Given the description of an element on the screen output the (x, y) to click on. 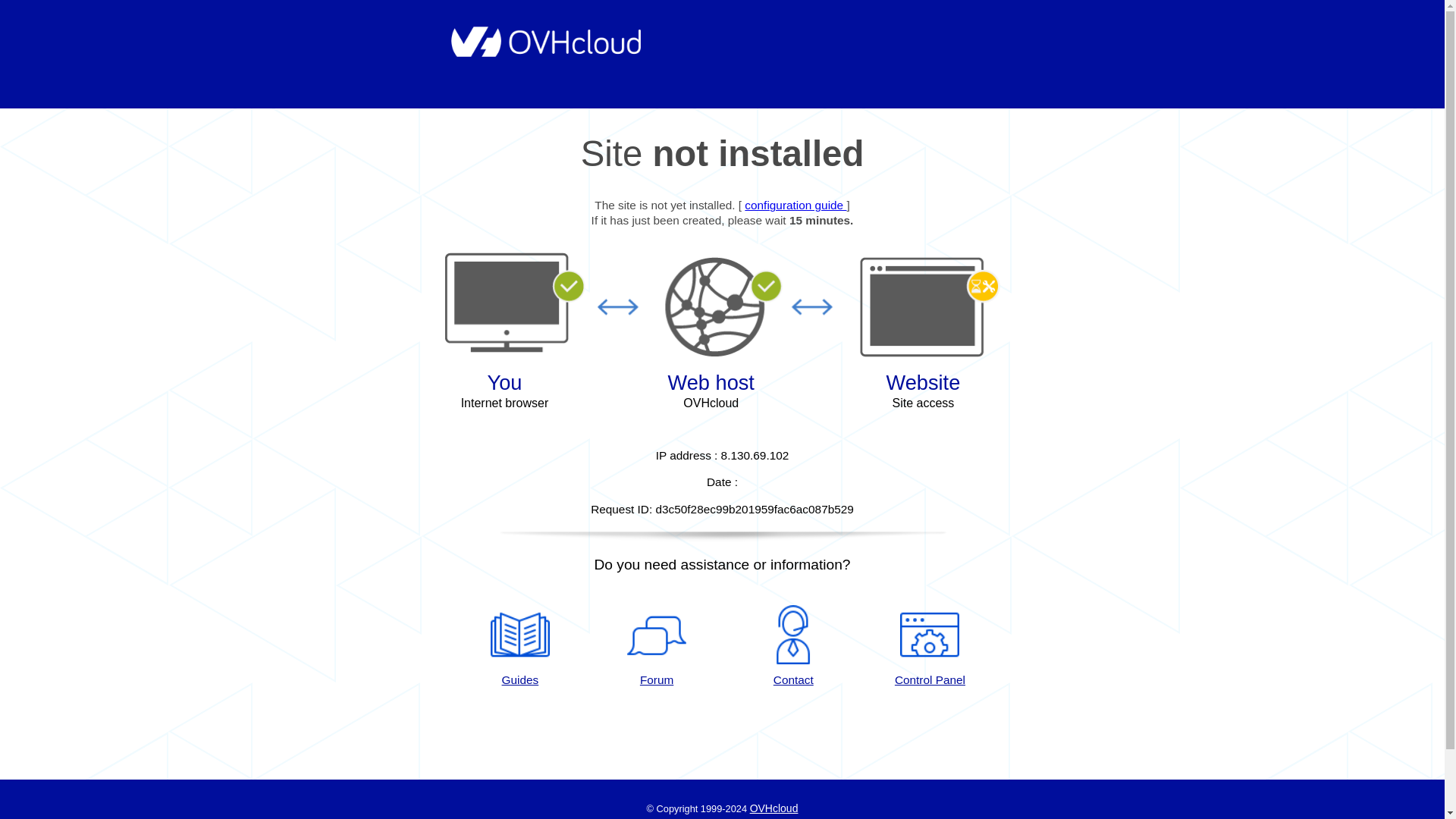
configuration guide (794, 205)
Guides (519, 646)
Guides (519, 646)
Control Panel (930, 646)
Forum (656, 646)
Control Panel (930, 646)
Guides (794, 205)
Contact (793, 646)
OVHcloud (773, 808)
Forum (656, 646)
Contact (793, 646)
